Given the description of an element on the screen output the (x, y) to click on. 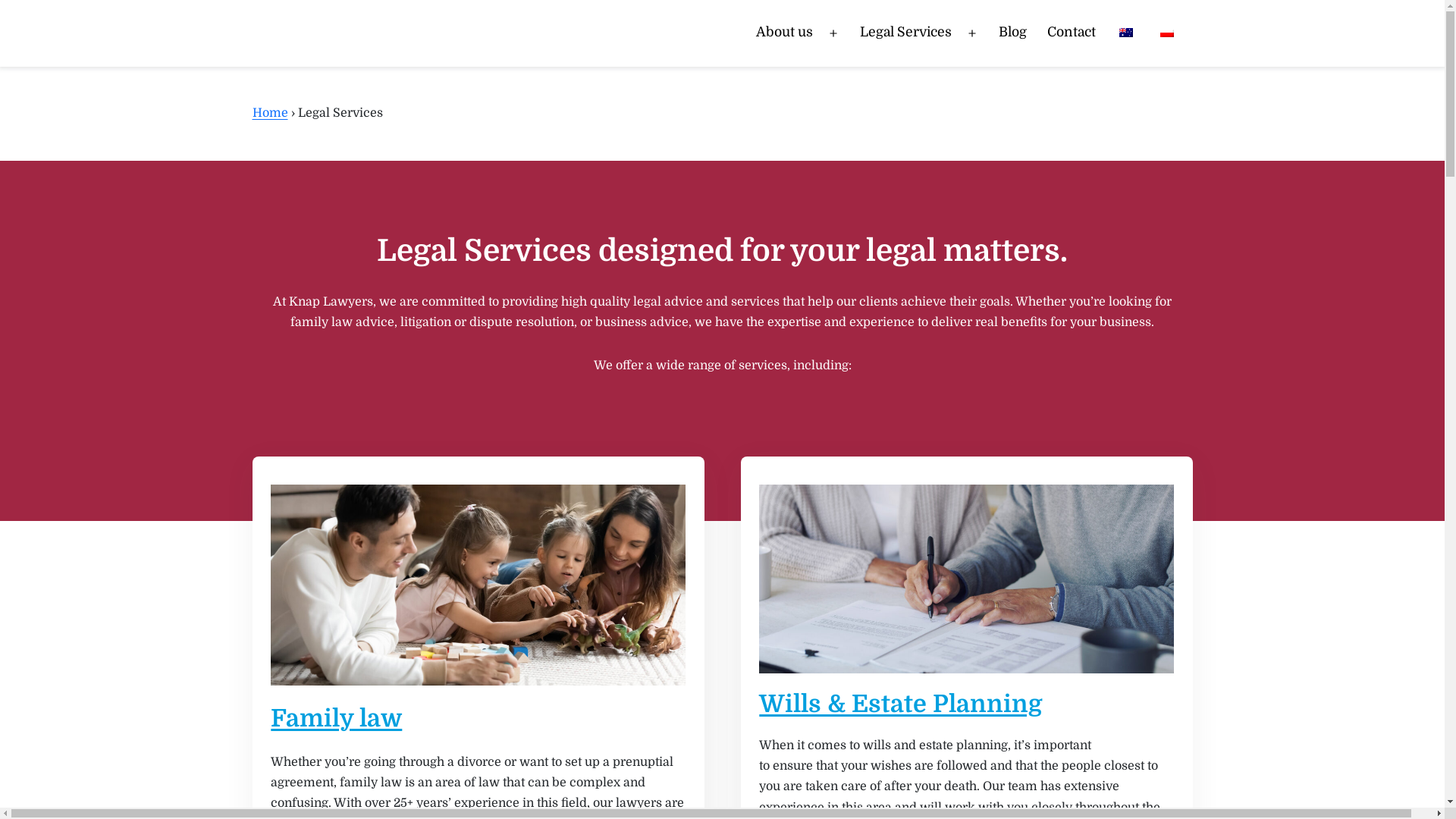
Polish Element type: hover (1166, 32)
Wills & Estate Planning Element type: text (900, 704)
Blog Element type: text (1012, 33)
Contact Element type: text (1071, 33)
English Element type: hover (1125, 32)
Family law Element type: text (335, 718)
Home Element type: text (269, 112)
About us Element type: text (784, 33)
Open menu Element type: text (833, 33)
Open menu Element type: text (971, 33)
Legal Services Element type: text (905, 33)
